Given the description of an element on the screen output the (x, y) to click on. 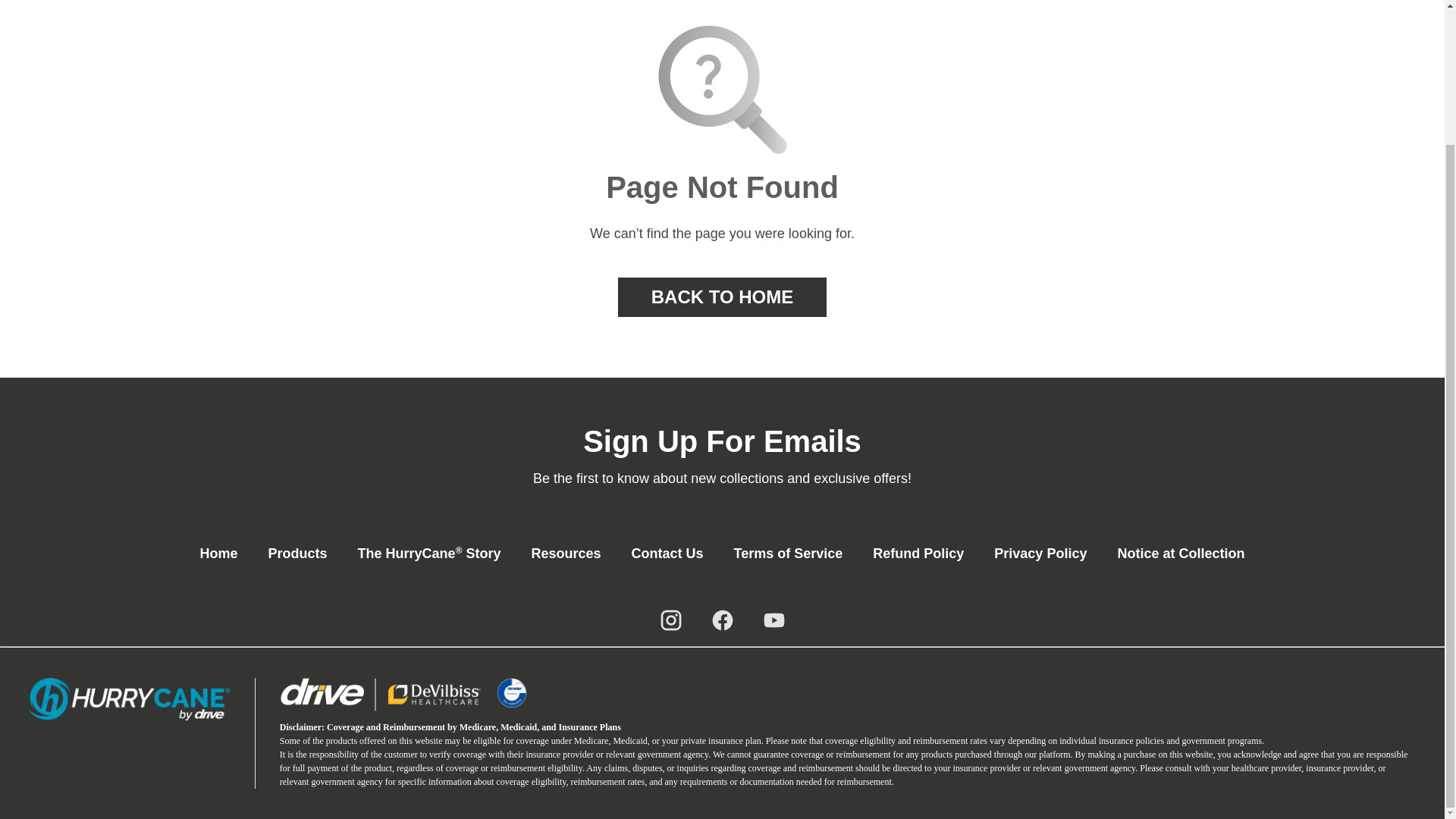
Terms of Service (789, 553)
Products (297, 553)
Privacy Policy (1040, 553)
Notice at Collection (1180, 553)
Contact Us (667, 553)
BACK TO HOME (722, 296)
Home (218, 553)
Resources (565, 553)
Refund Policy (917, 553)
